Given the description of an element on the screen output the (x, y) to click on. 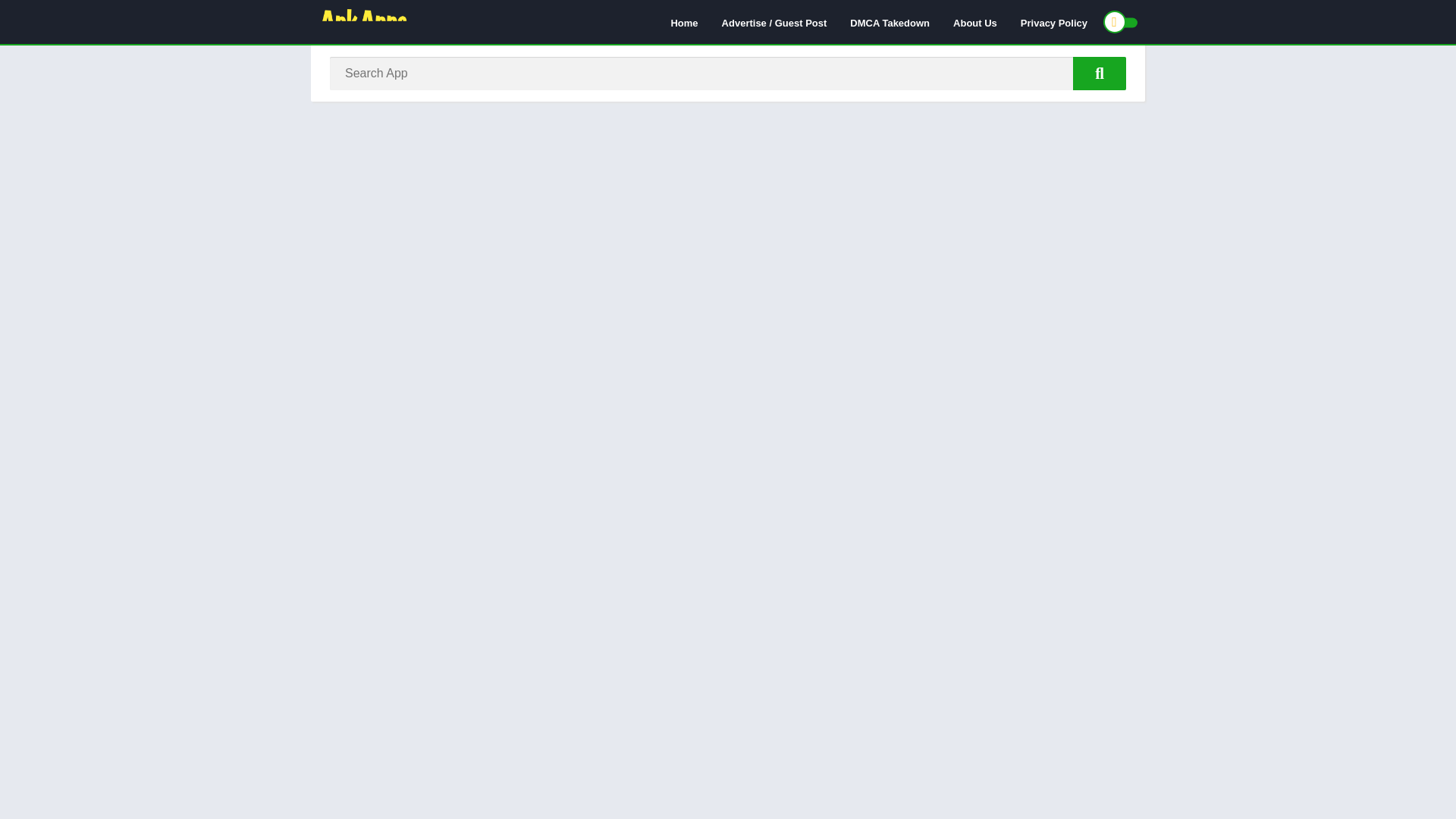
DMCA Takedown (889, 22)
About Us (975, 22)
Search App (1099, 73)
Privacy Policy (1054, 22)
Home (684, 22)
